Given the description of an element on the screen output the (x, y) to click on. 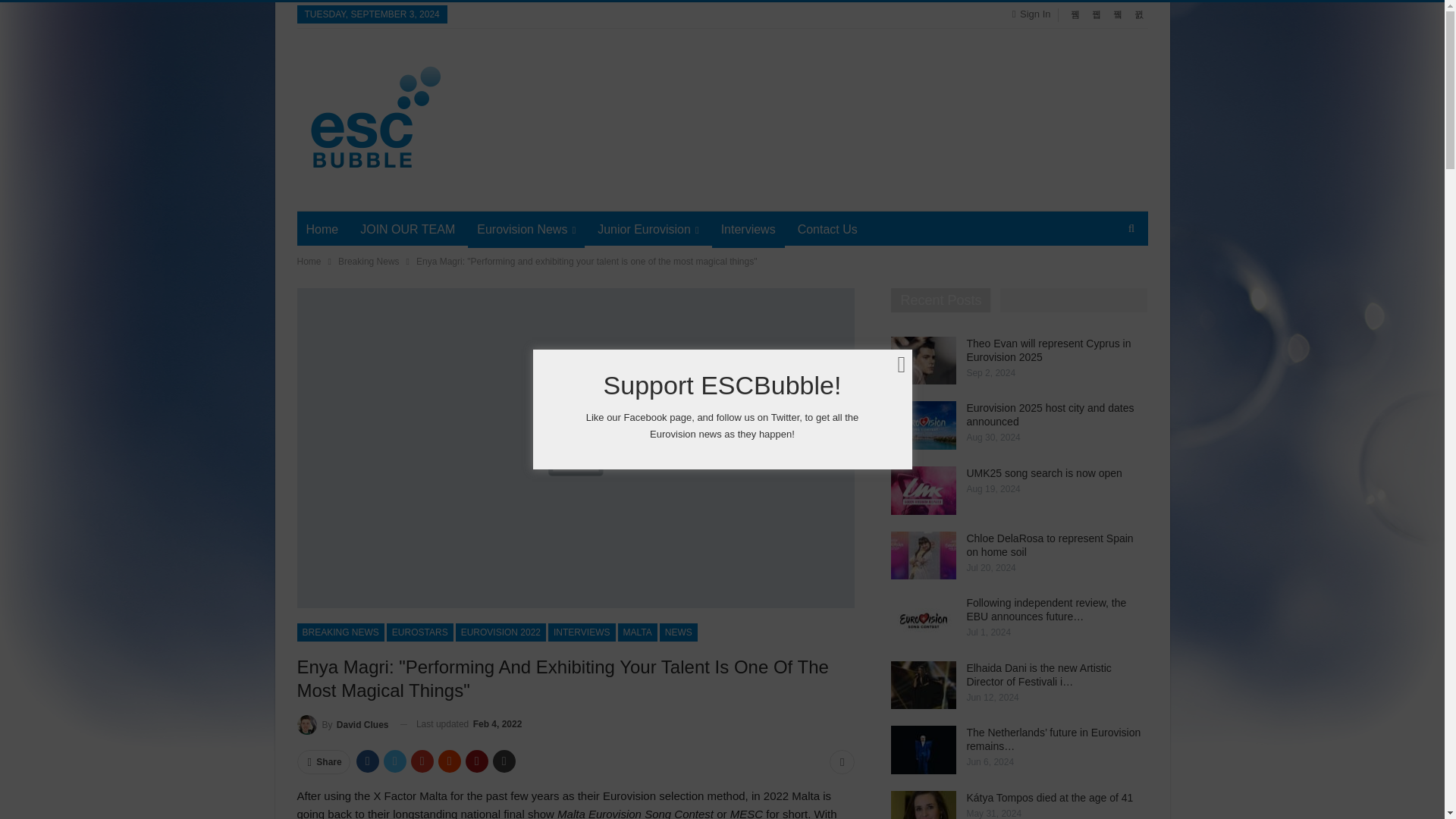
Contact Us (827, 229)
Home (322, 229)
Sign In (1034, 13)
Eurovision News (526, 229)
JOIN OUR TEAM (407, 229)
Browse Author Articles (342, 724)
Junior Eurovision (647, 229)
Interviews (747, 229)
